Given the description of an element on the screen output the (x, y) to click on. 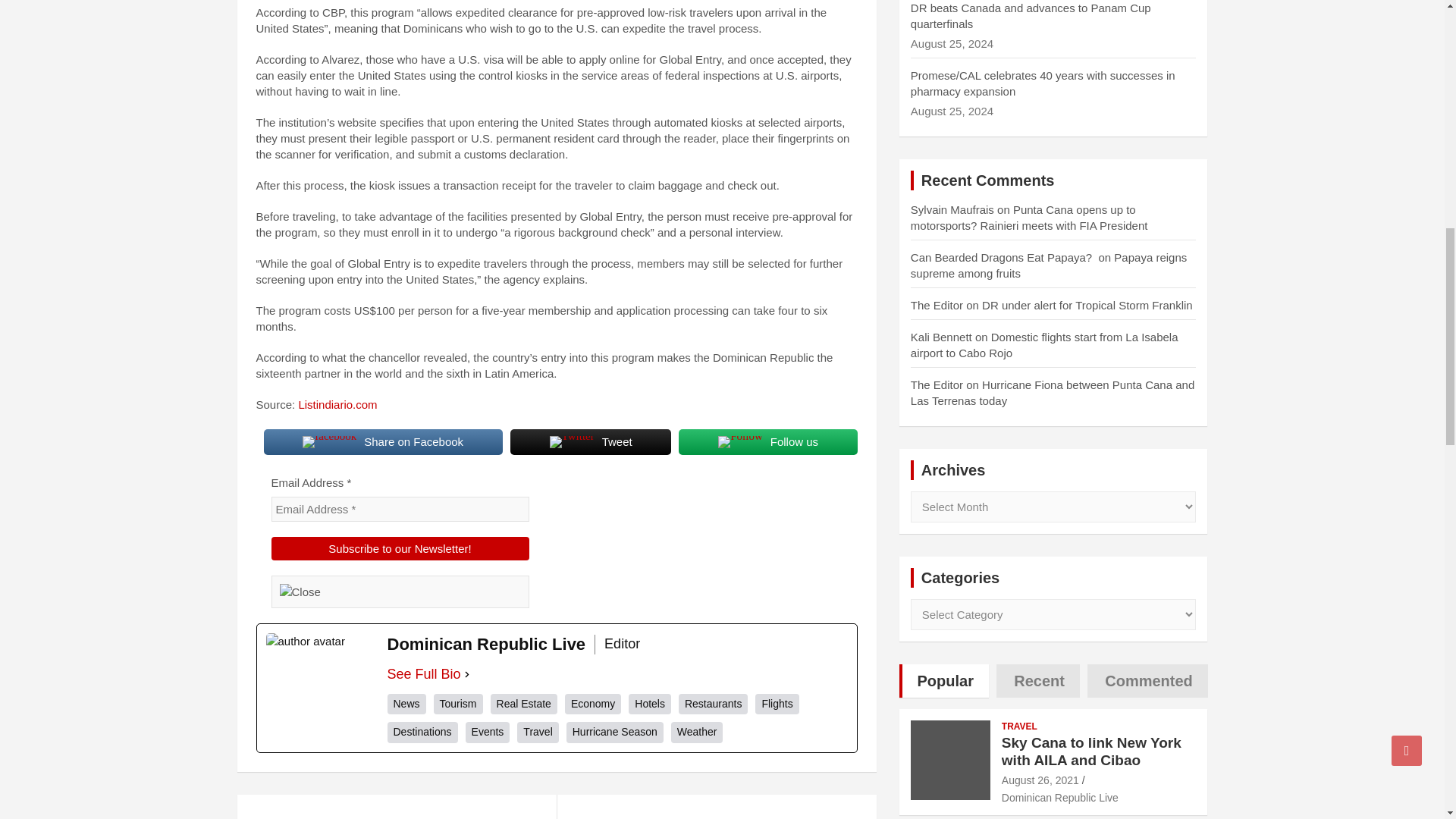
Follow us (767, 441)
Subscribe to our Newsletter! (399, 548)
Share on Facebook (382, 441)
Subscribe to our Newsletter! (399, 548)
Tweet (591, 441)
Listindiario.com (337, 404)
Email Address (399, 508)
Sky Cana to link New York with AILA and Cibao (1039, 779)
See Full Bio (423, 674)
